Given the description of an element on the screen output the (x, y) to click on. 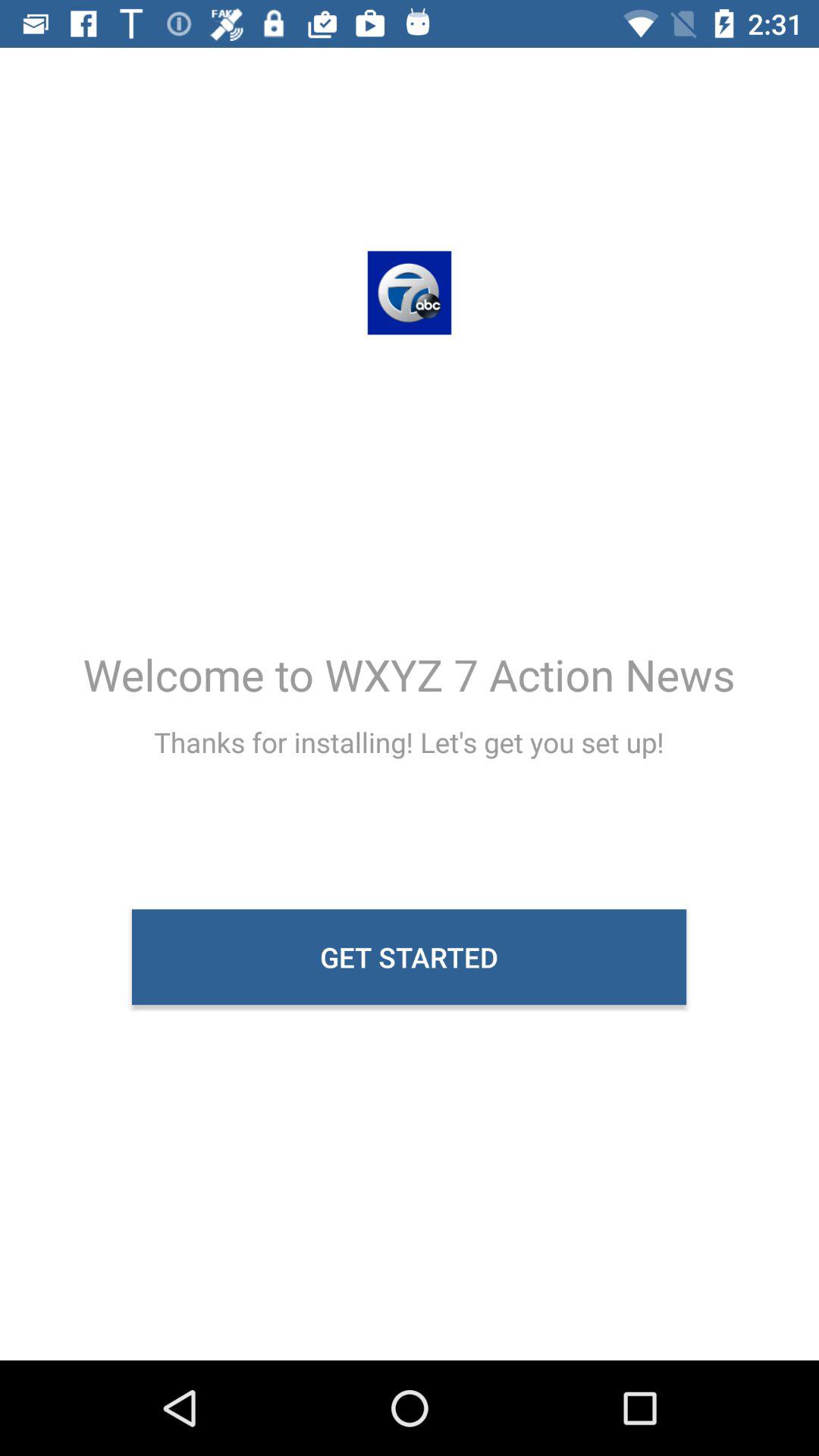
turn off icon below the thanks for installing icon (408, 956)
